Given the description of an element on the screen output the (x, y) to click on. 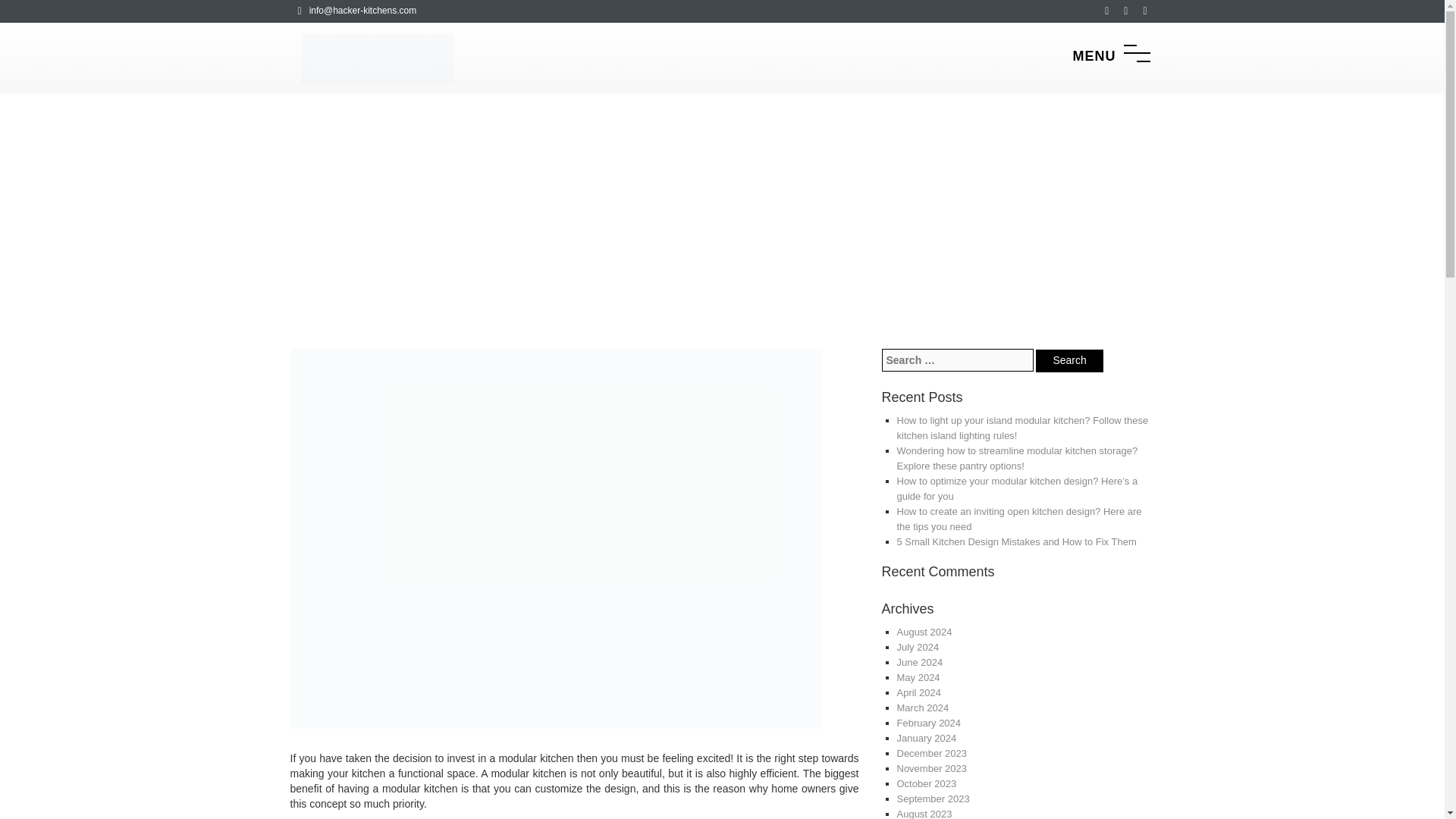
Search (1068, 360)
MENU (1110, 56)
Search (1068, 360)
